Given the description of an element on the screen output the (x, y) to click on. 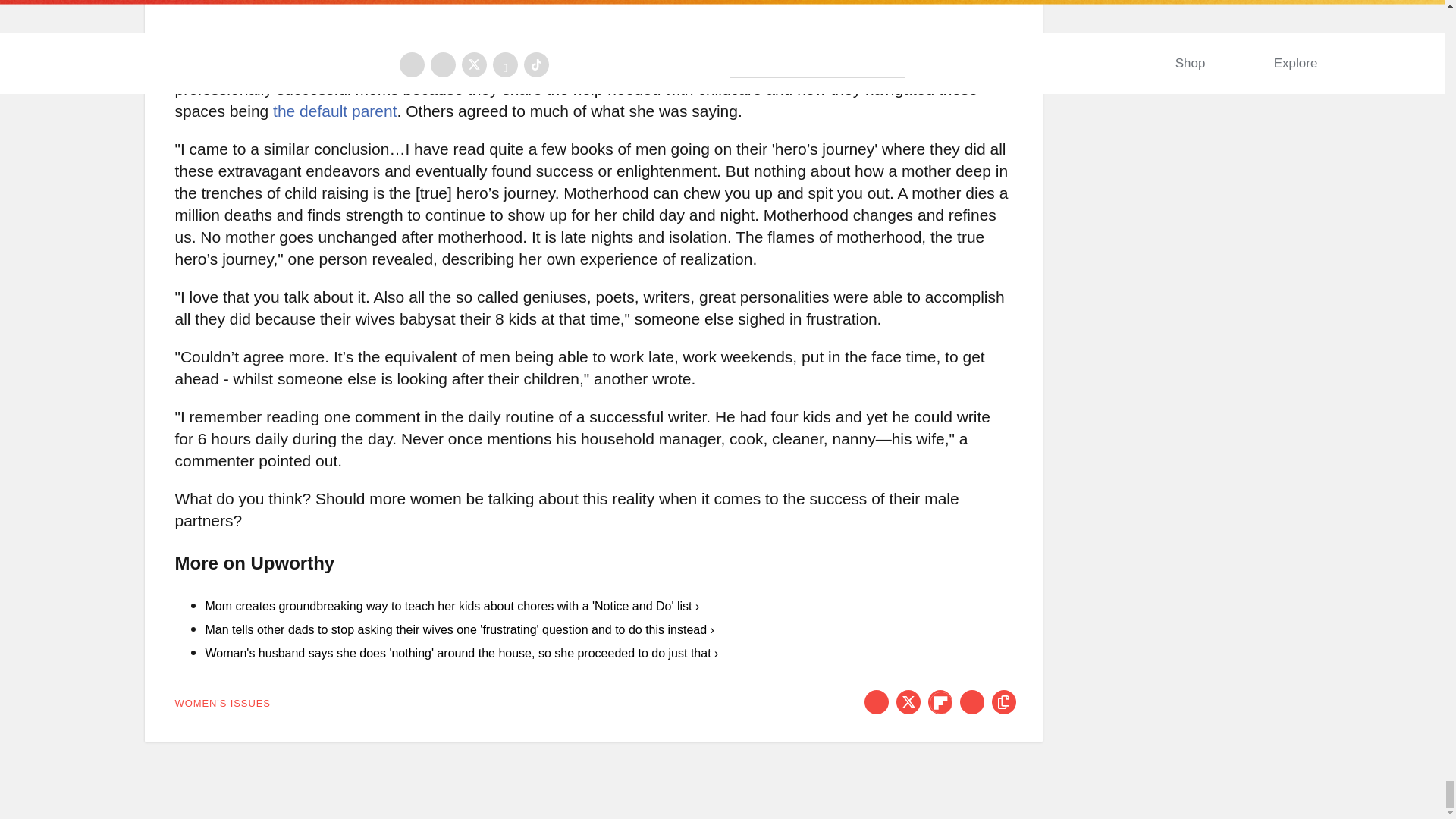
Copy this link to clipboard (1003, 702)
